Given the description of an element on the screen output the (x, y) to click on. 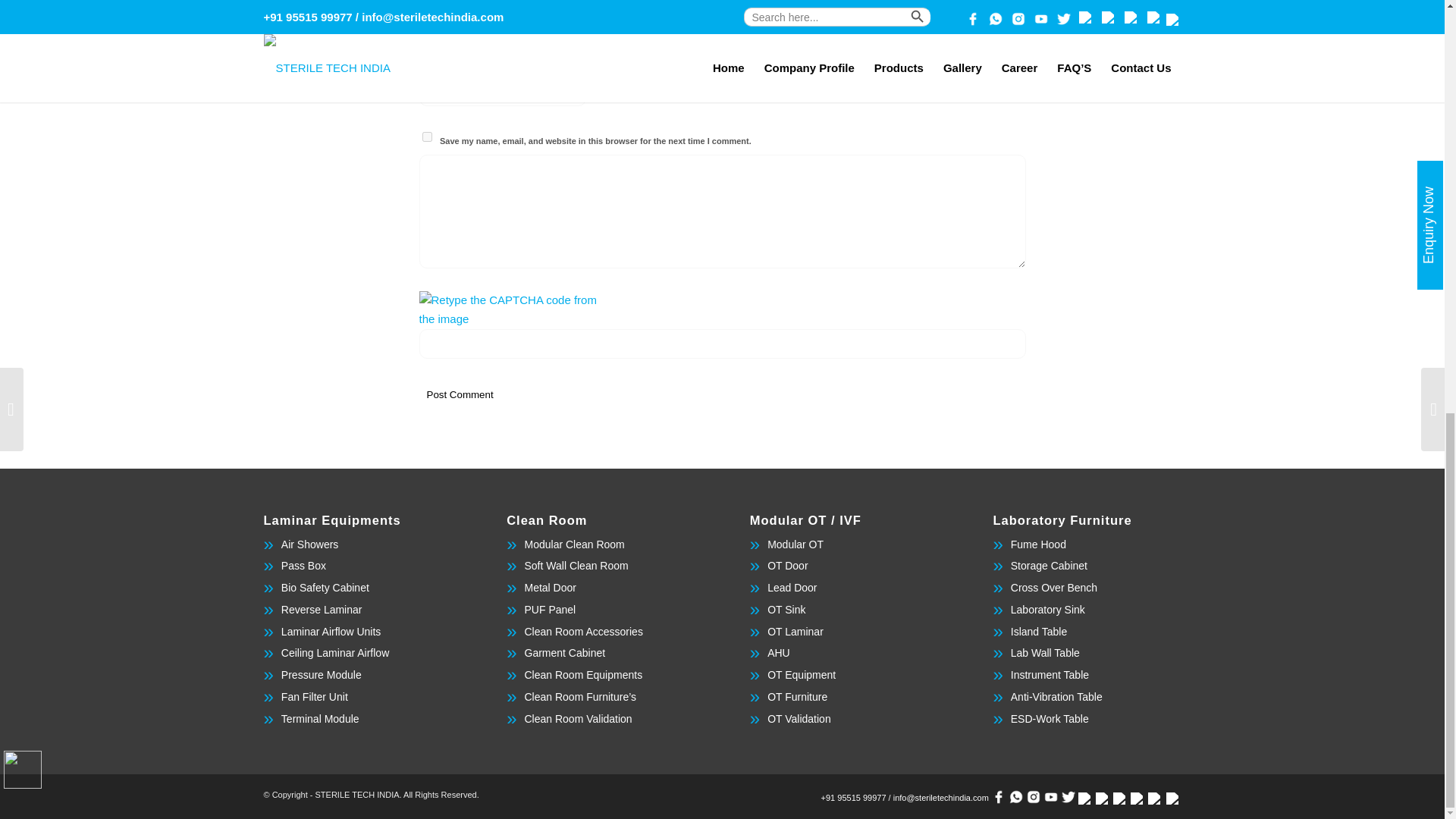
Post Comment (459, 394)
What is the WordPress CAPTCHA Plugin? (507, 310)
yes (426, 136)
